Given the description of an element on the screen output the (x, y) to click on. 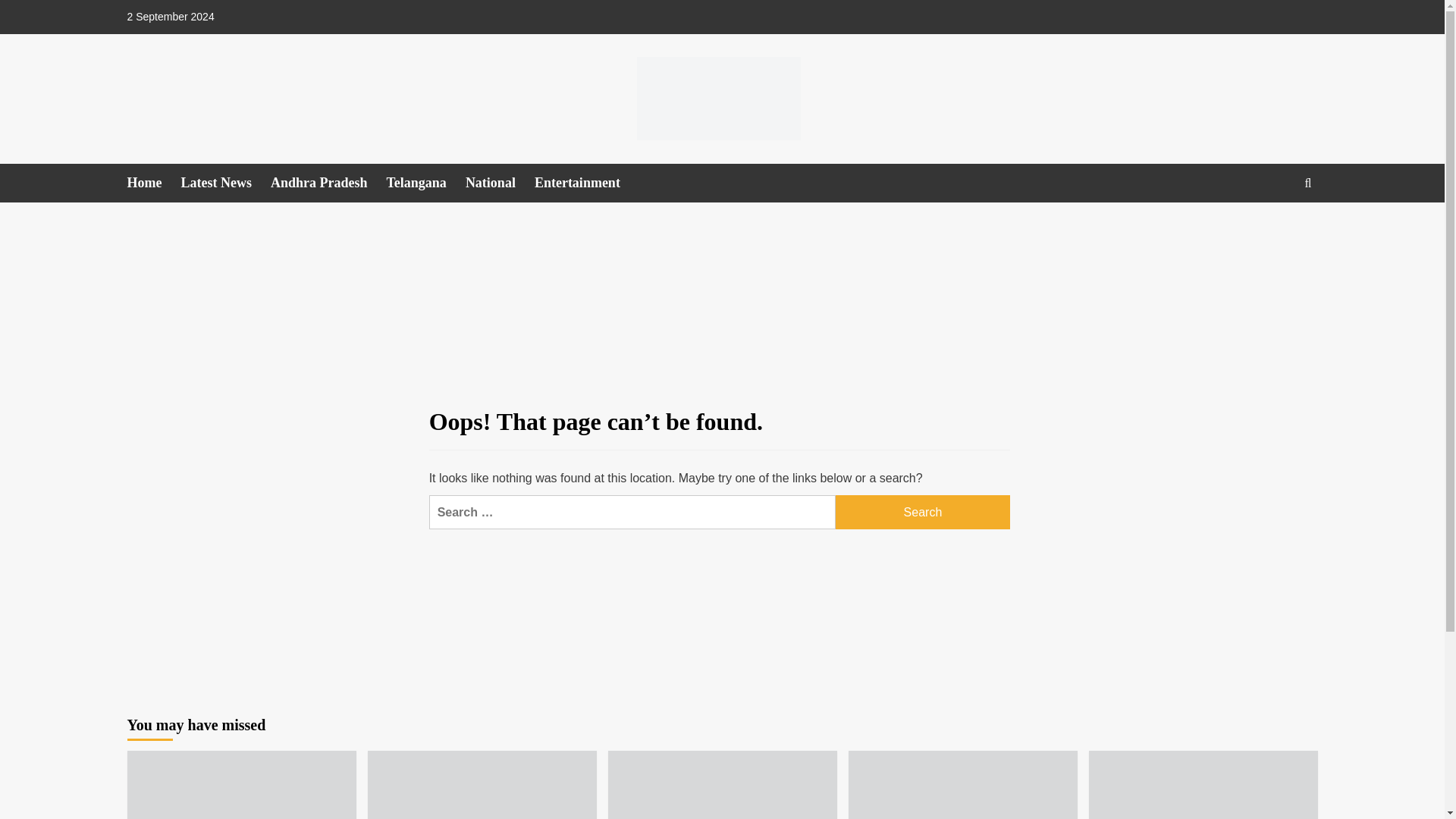
Home (154, 182)
Entertainment (586, 182)
Search (922, 512)
Telangana (426, 182)
Latest News (224, 182)
Search (922, 512)
Search (922, 512)
Andhra Pradesh (328, 182)
National (499, 182)
Search (1272, 229)
